Given the description of an element on the screen output the (x, y) to click on. 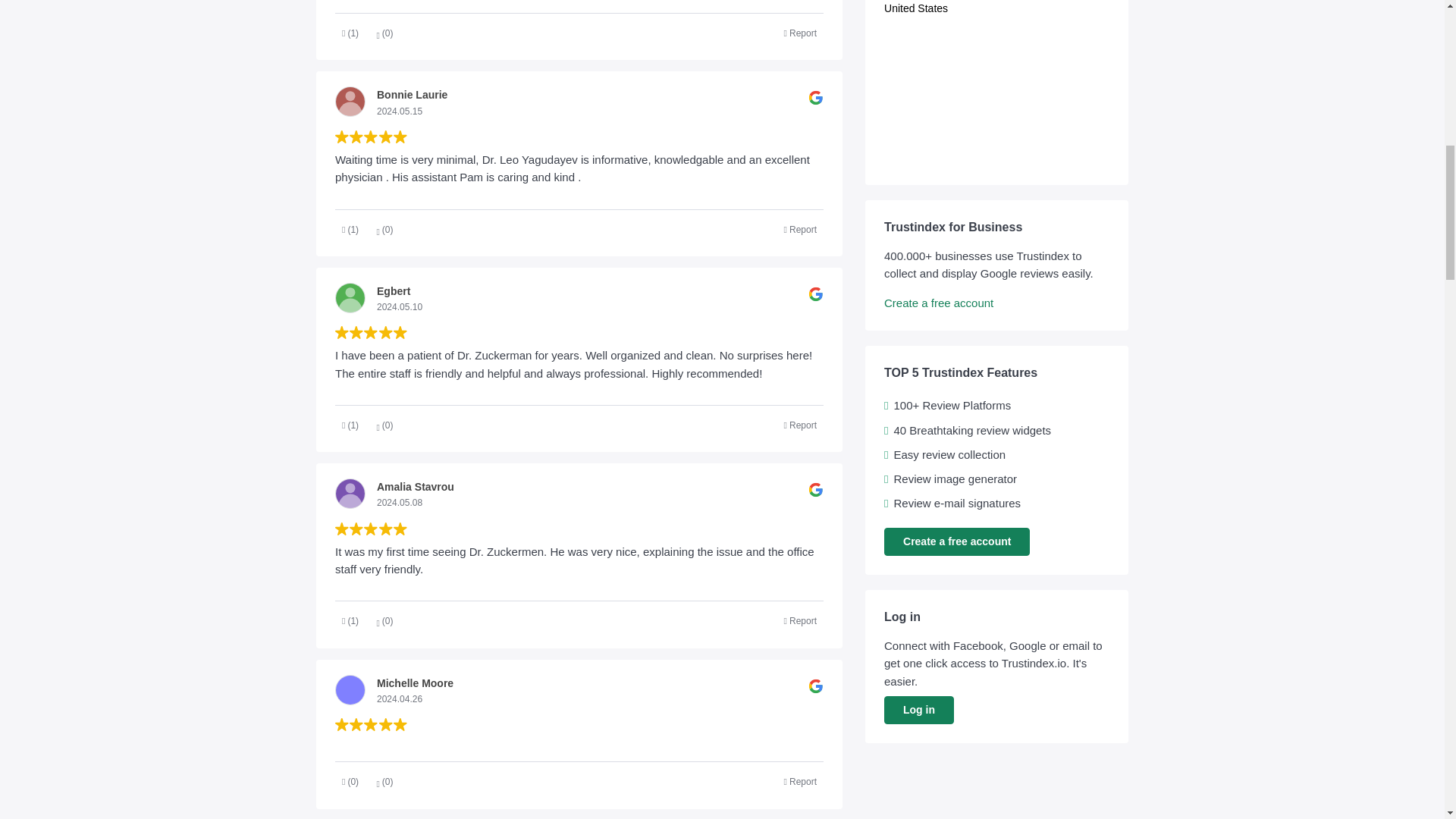
Report (800, 782)
Report (800, 425)
Report (800, 33)
Report (800, 621)
Report (800, 229)
Bayside, 23-83 Bell Blvd, Queens 11360, United States (996, 104)
